Given the description of an element on the screen output the (x, y) to click on. 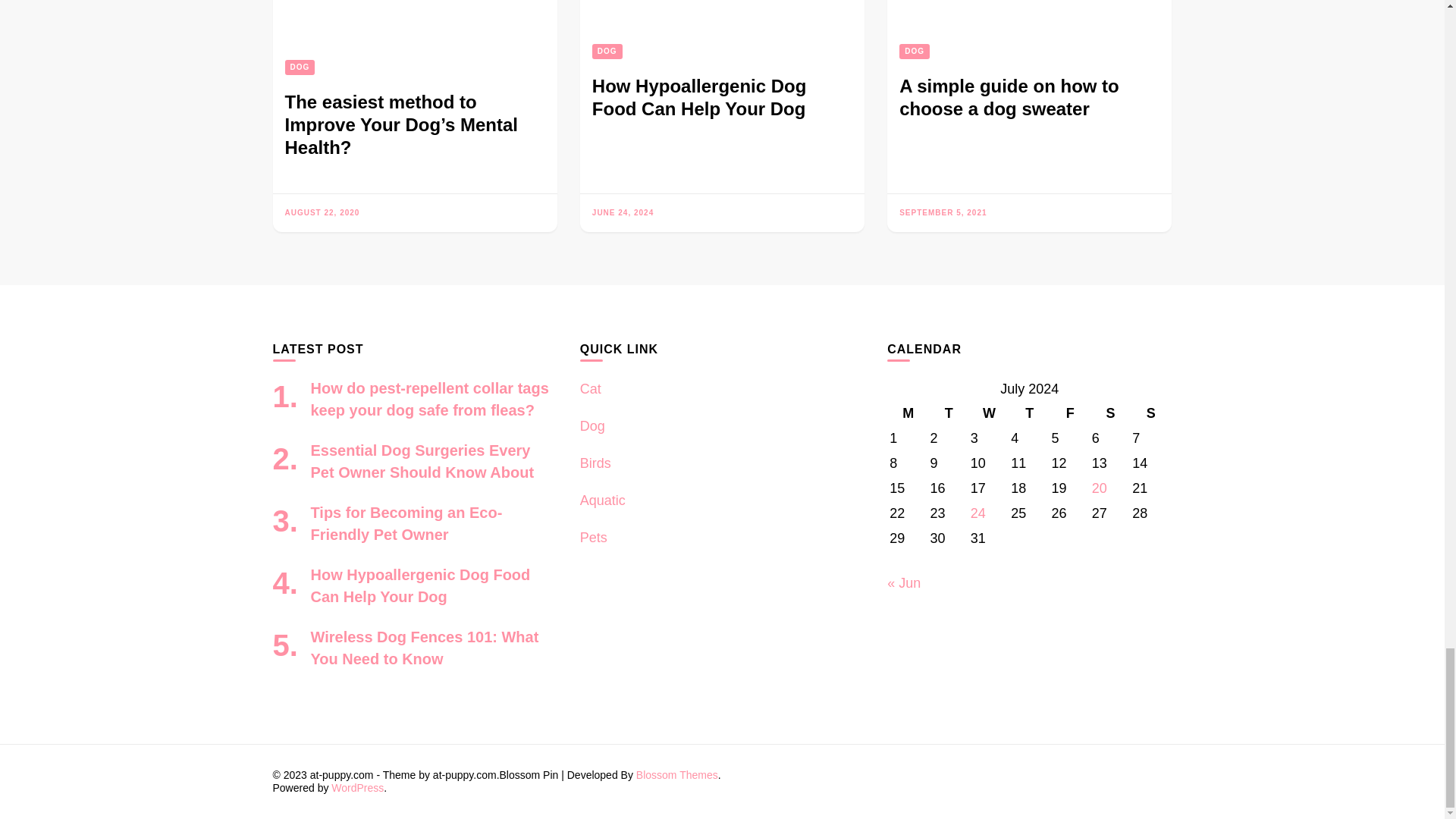
Sunday (1150, 413)
Saturday (1109, 413)
Thursday (1029, 413)
Tuesday (948, 413)
Friday (1069, 413)
Wednesday (989, 413)
Monday (907, 413)
